Given the description of an element on the screen output the (x, y) to click on. 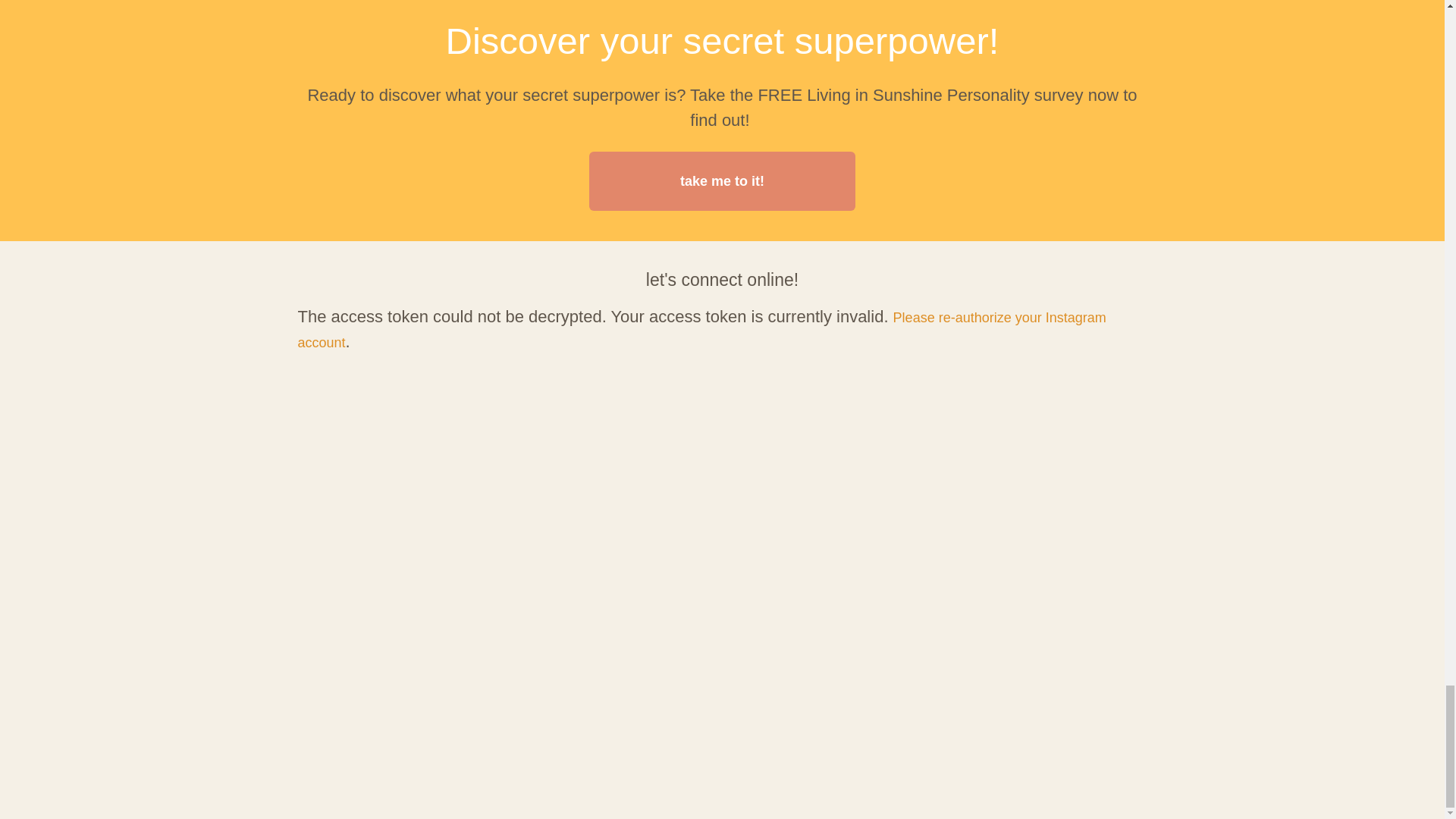
take me to it! (722, 180)
Please re-authorize your Instagram account (701, 330)
